Given the description of an element on the screen output the (x, y) to click on. 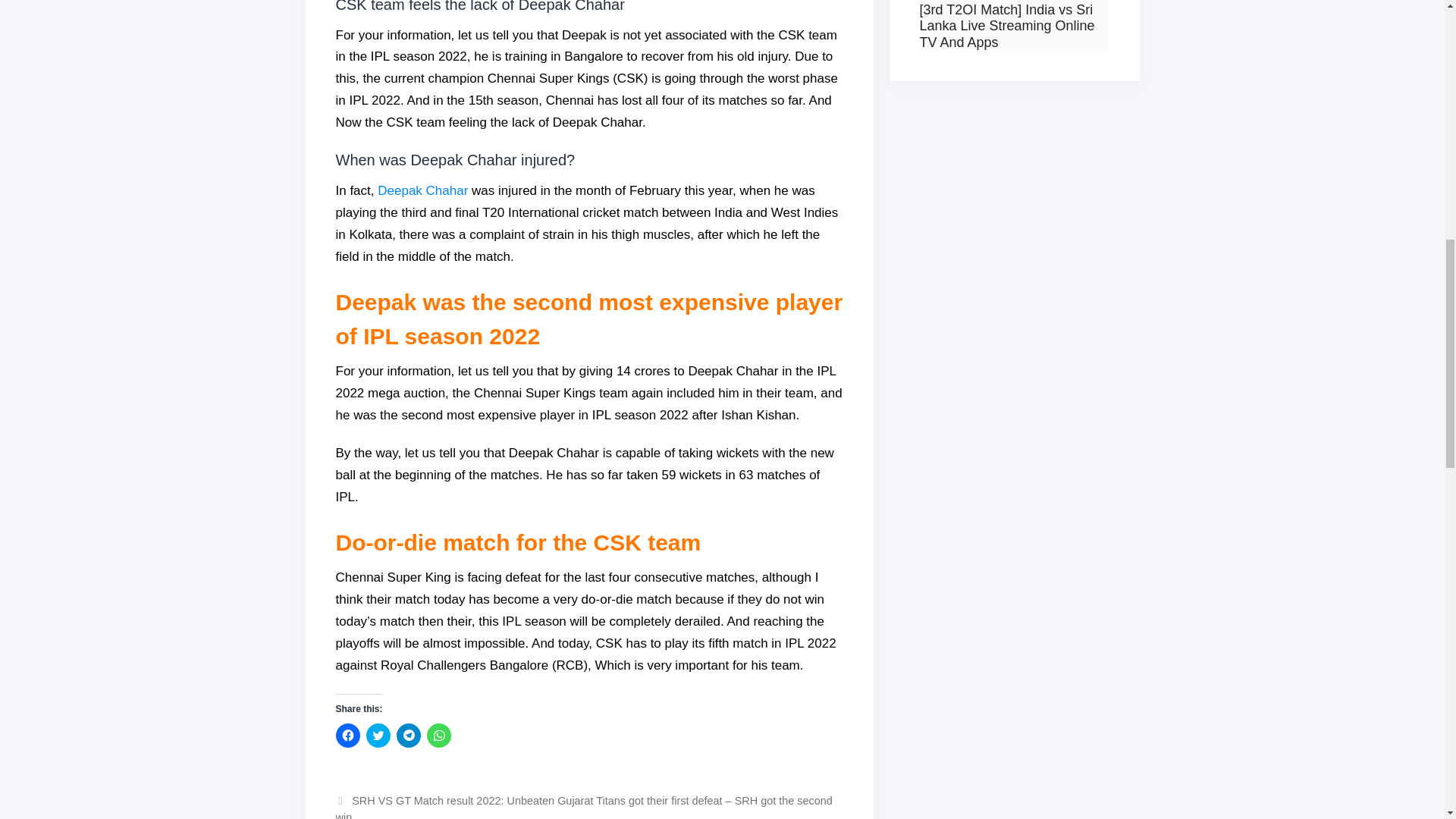
Click to share on Facebook (346, 735)
Click to share on Telegram (408, 735)
Click to share on WhatsApp (437, 735)
Click to share on Twitter (377, 735)
Deepak Chahar (422, 190)
